Given the description of an element on the screen output the (x, y) to click on. 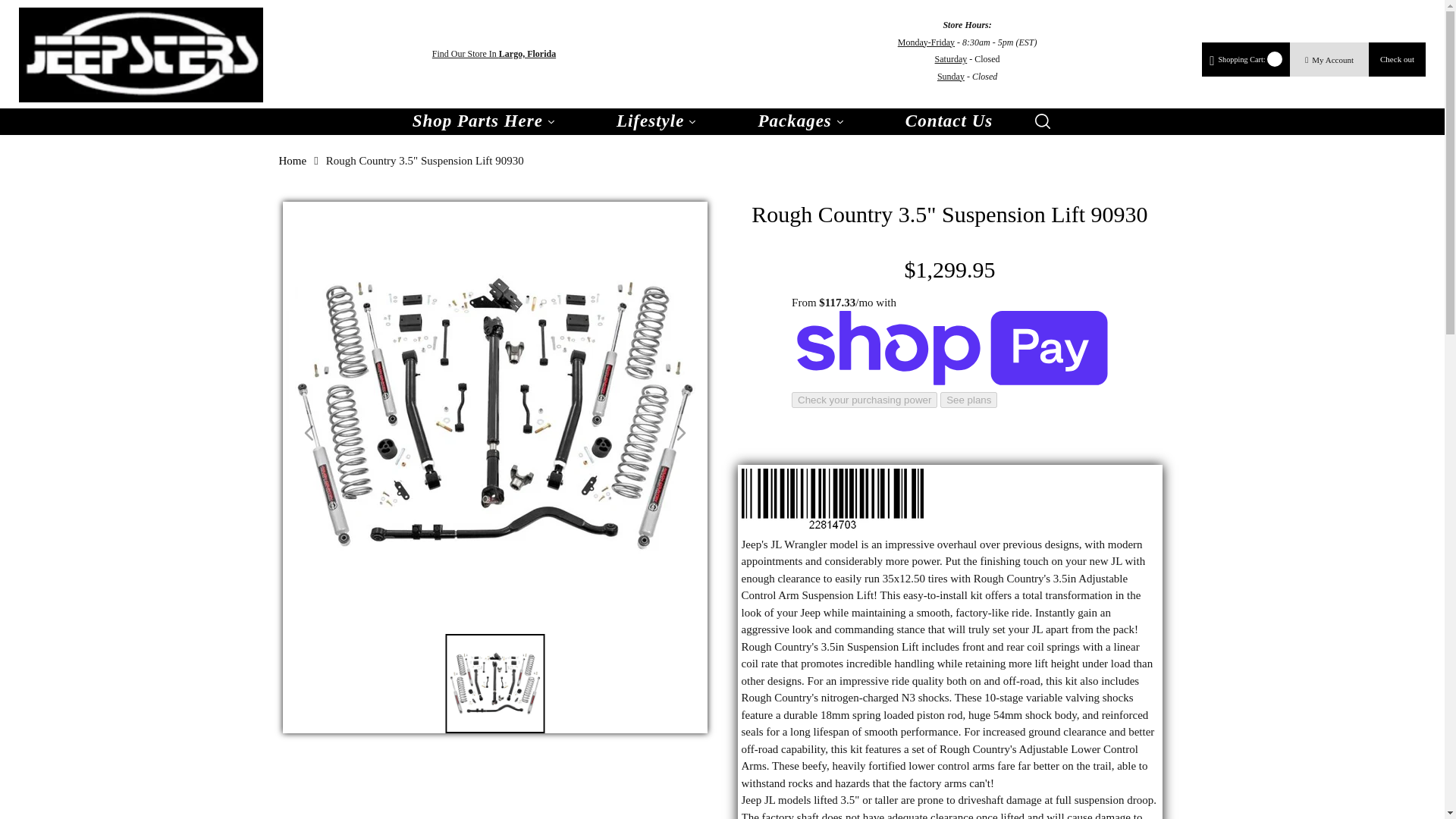
Contact Us (949, 121)
My Account (1329, 59)
Packages (800, 121)
Check out (1396, 58)
My Account (1329, 59)
Contact Us (949, 121)
Shopping Cart: 0 (1245, 58)
Packages (800, 121)
Lifestyle (656, 121)
Find Our Store In Largo, Florida (494, 54)
Shop Parts Here (483, 121)
Lifestyle (656, 121)
Shop Parts Here (483, 121)
Home (293, 160)
